Given the description of an element on the screen output the (x, y) to click on. 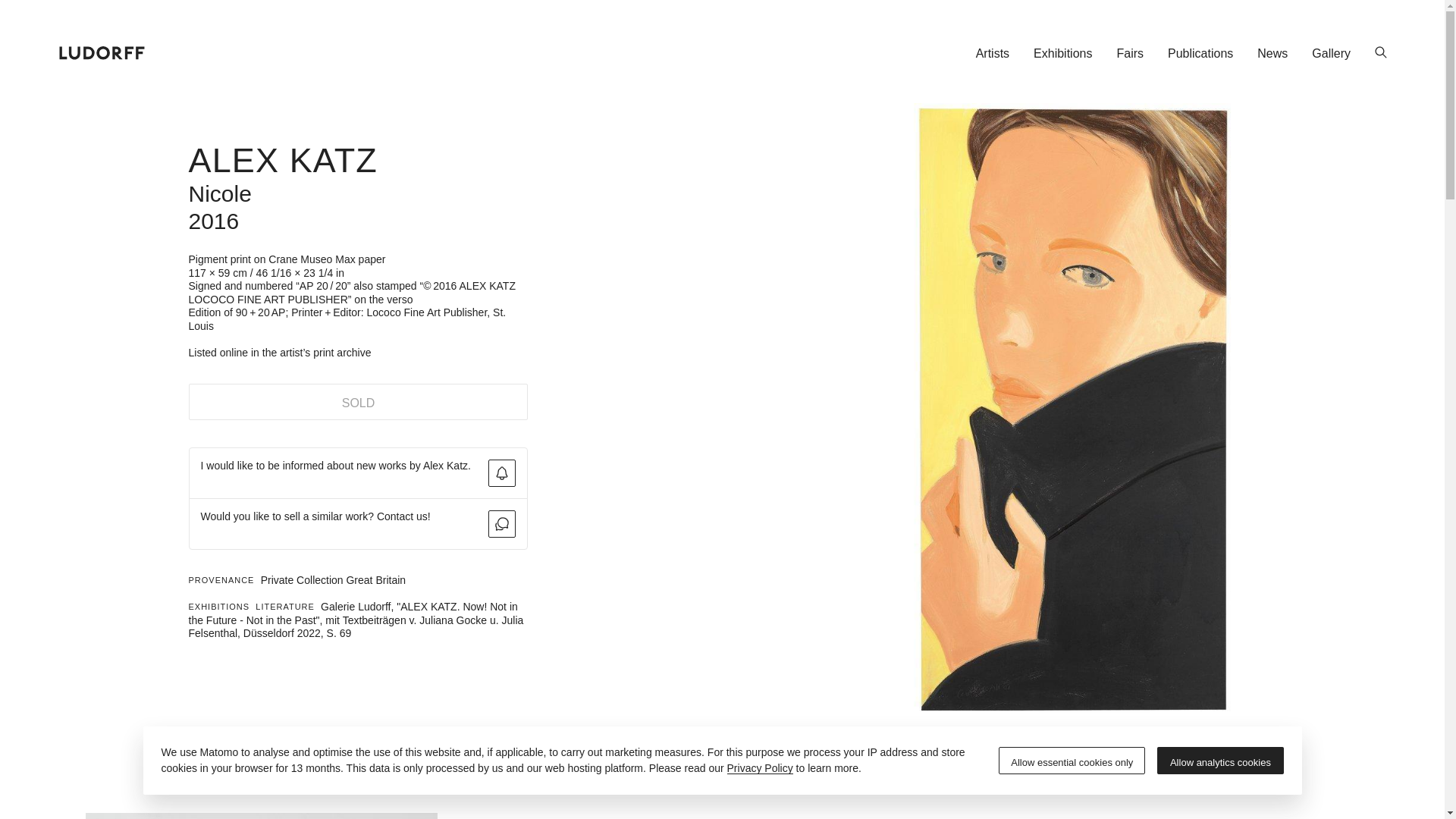
Artists (992, 52)
ALEX KATZ (282, 159)
Gallery (1331, 52)
Fairs (1129, 52)
Exhibitions (1062, 52)
SOLD (357, 402)
Subscribe (501, 472)
Contact now (501, 523)
Publications (1200, 52)
News (1272, 52)
